Given the description of an element on the screen output the (x, y) to click on. 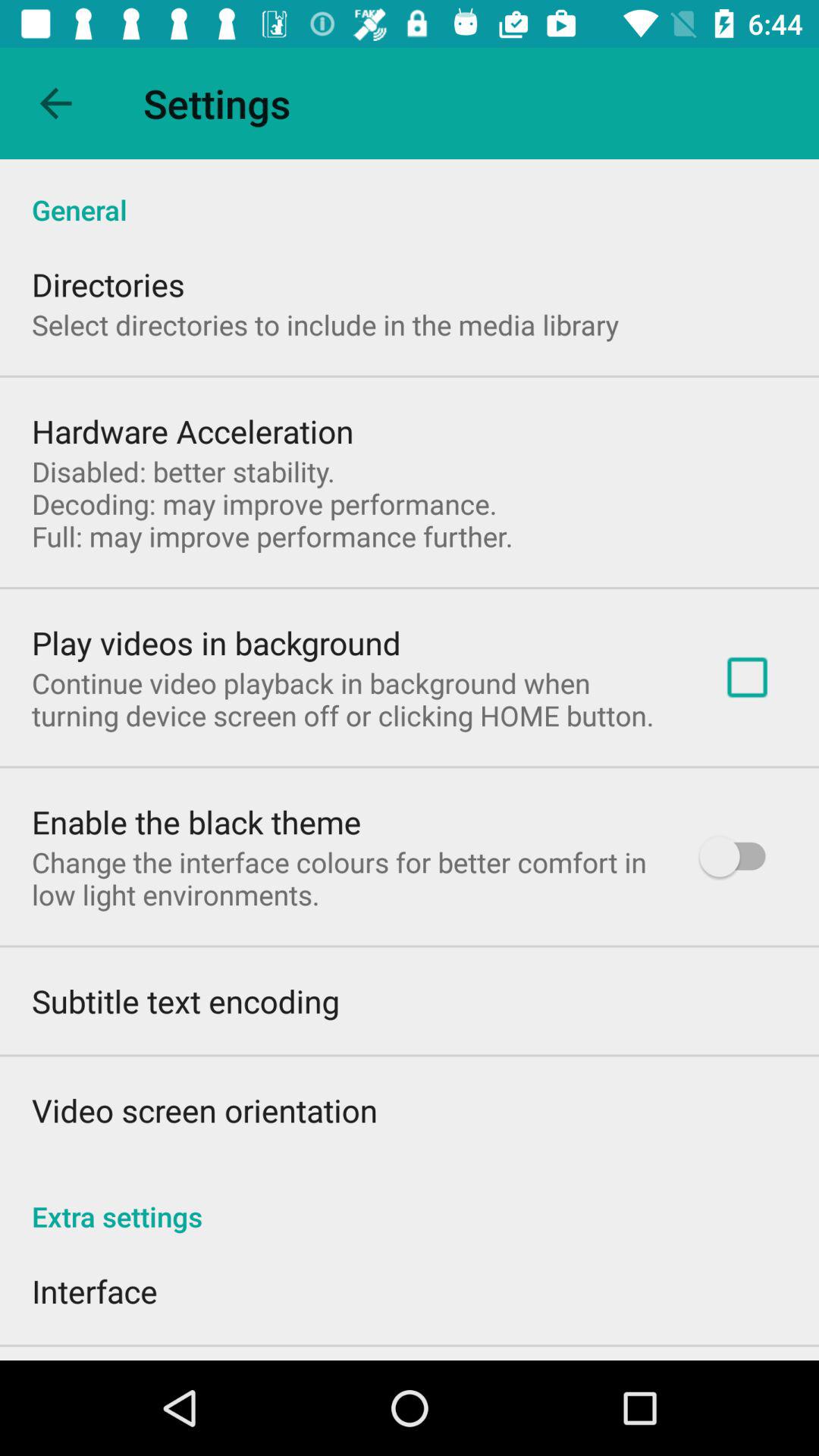
click the subtitle text encoding app (185, 1000)
